Given the description of an element on the screen output the (x, y) to click on. 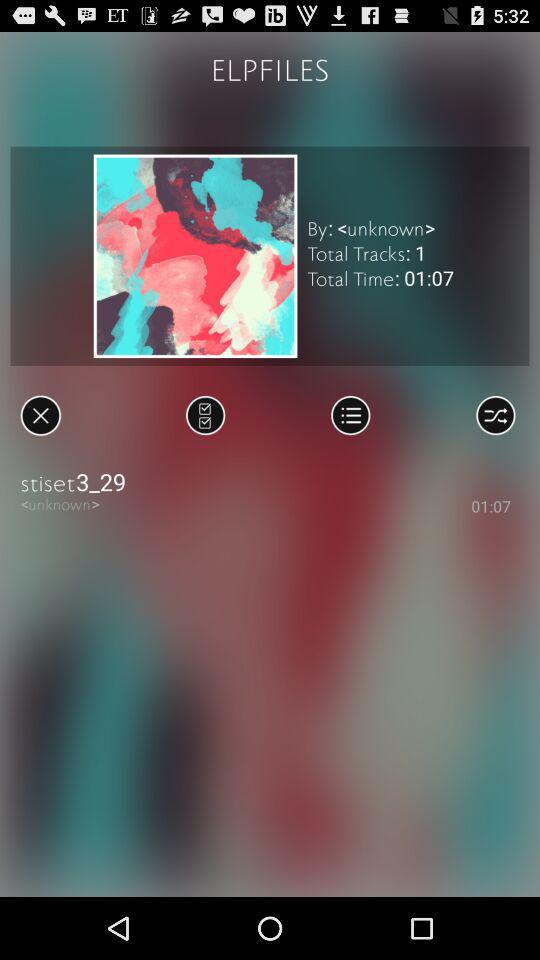
open playlist (350, 415)
